Given the description of an element on the screen output the (x, y) to click on. 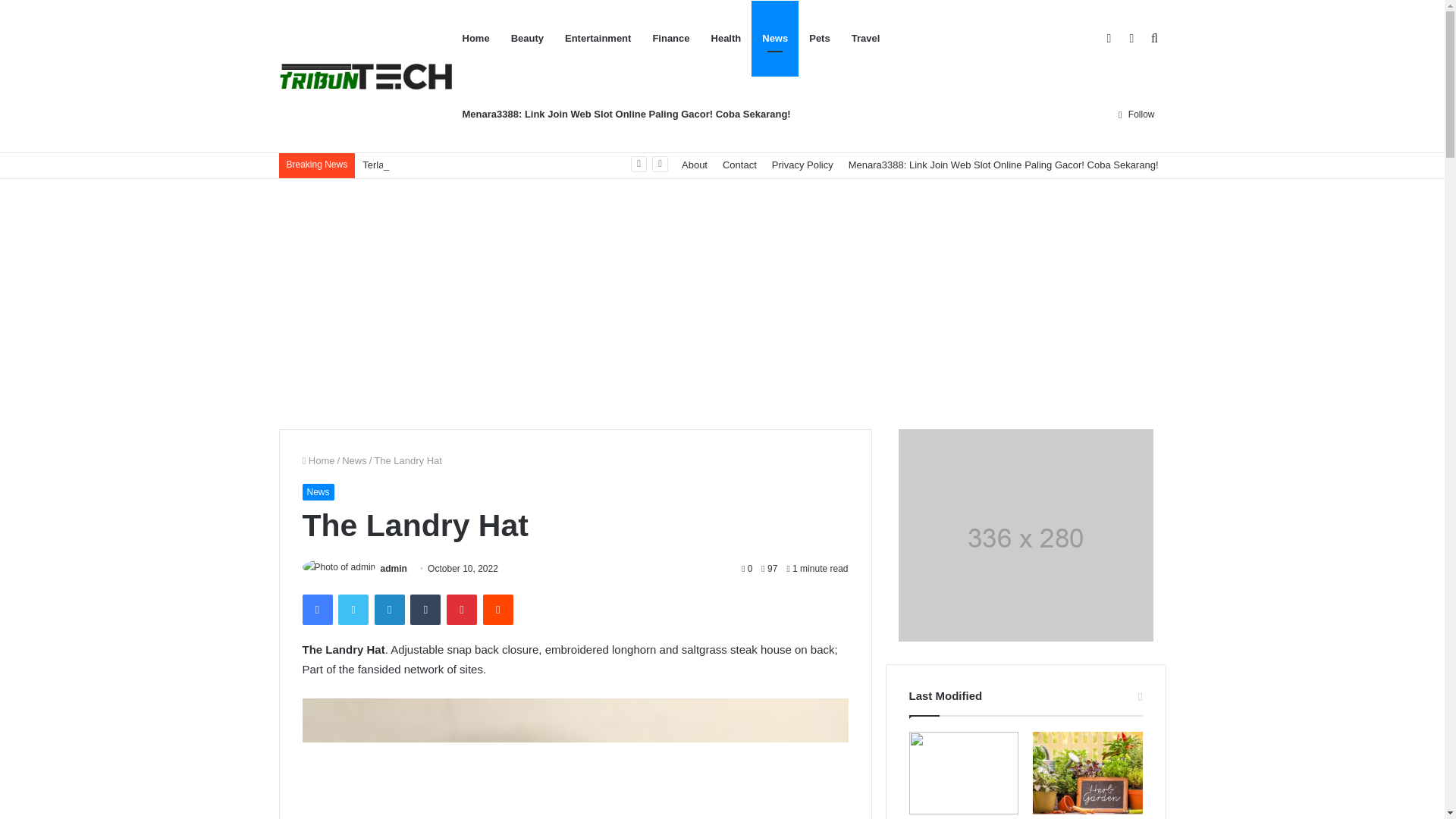
Privacy Policy (802, 164)
Contact (739, 164)
LinkedIn (389, 609)
LinkedIn (389, 609)
Home (317, 460)
Reddit (498, 609)
Twitter (352, 609)
News (354, 460)
